Given the description of an element on the screen output the (x, y) to click on. 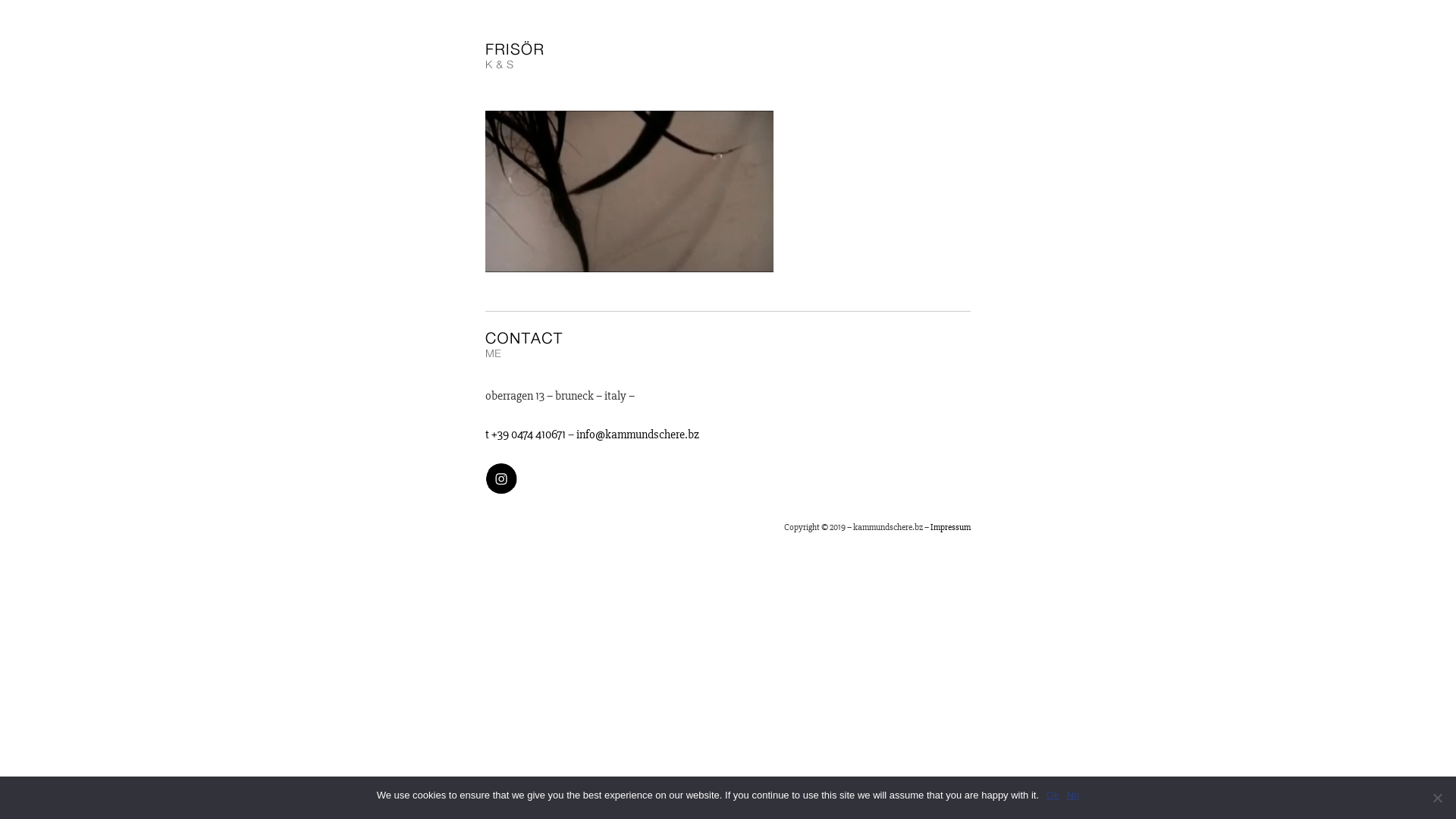
No Element type: hover (1436, 797)
Impressum Element type: text (950, 527)
info@kammundschere.bz Element type: text (637, 434)
Ok Element type: text (1052, 795)
No Element type: text (1072, 795)
